Given the description of an element on the screen output the (x, y) to click on. 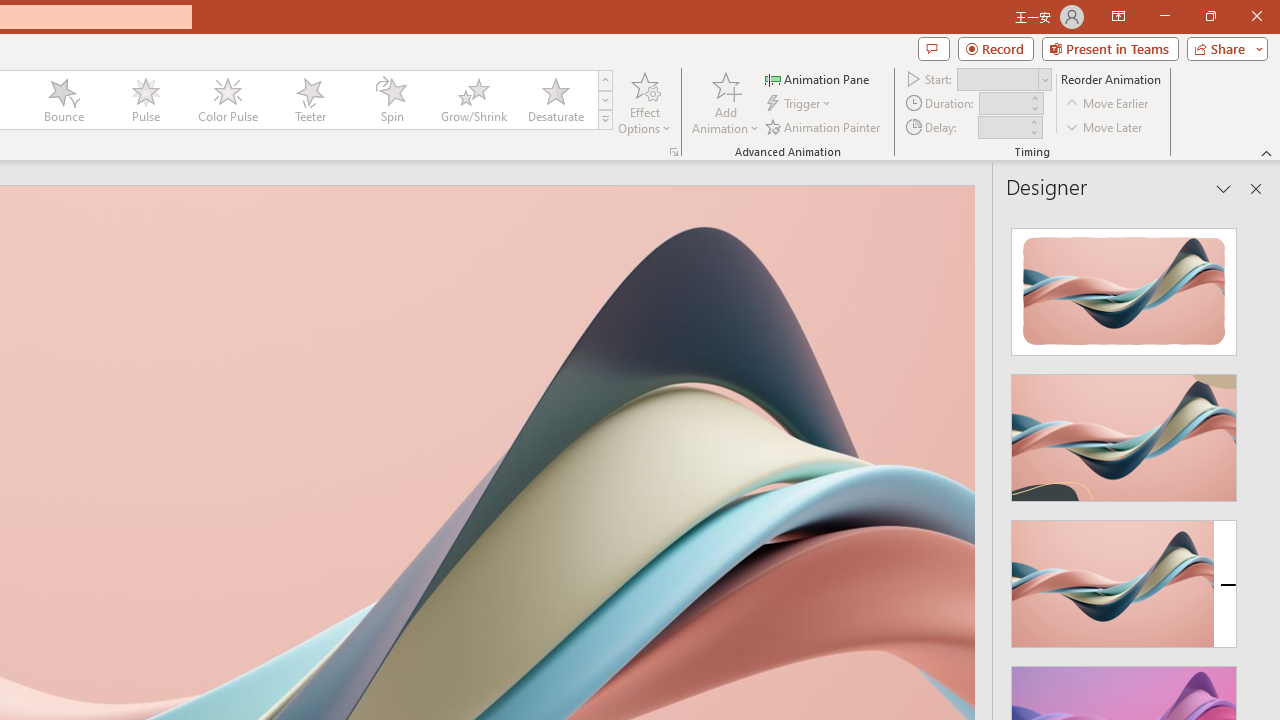
Move Earlier (1107, 103)
Animation Pane (818, 78)
Spin (391, 100)
Grow/Shrink (473, 100)
Bounce (63, 100)
Animation Delay (1002, 127)
